Given the description of an element on the screen output the (x, y) to click on. 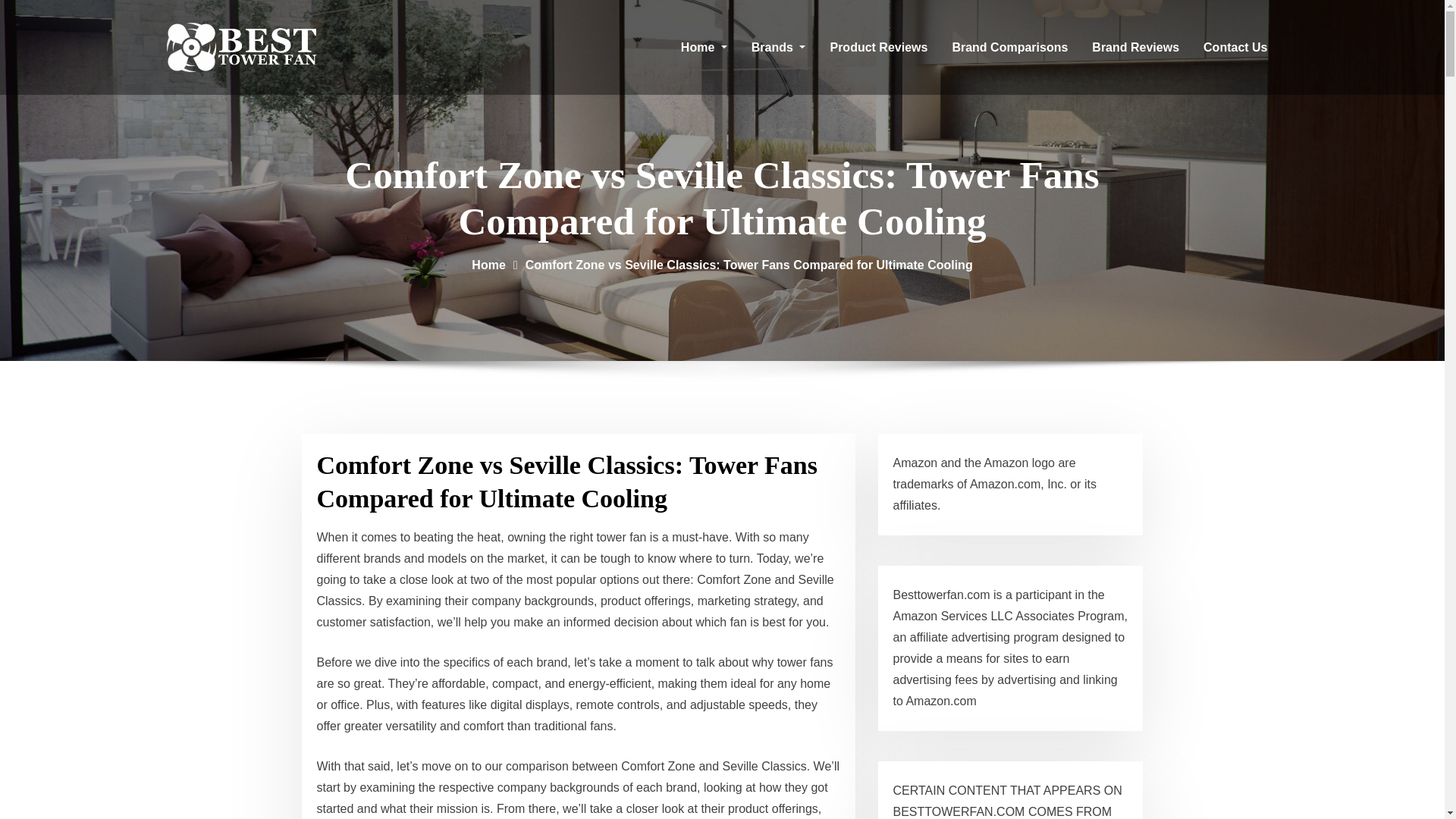
Home (488, 264)
Home (703, 47)
Brands (778, 47)
Contact Us (1235, 47)
Brand Comparisons (1009, 47)
Brand Reviews (1135, 47)
Product Reviews (877, 47)
